Given the description of an element on the screen output the (x, y) to click on. 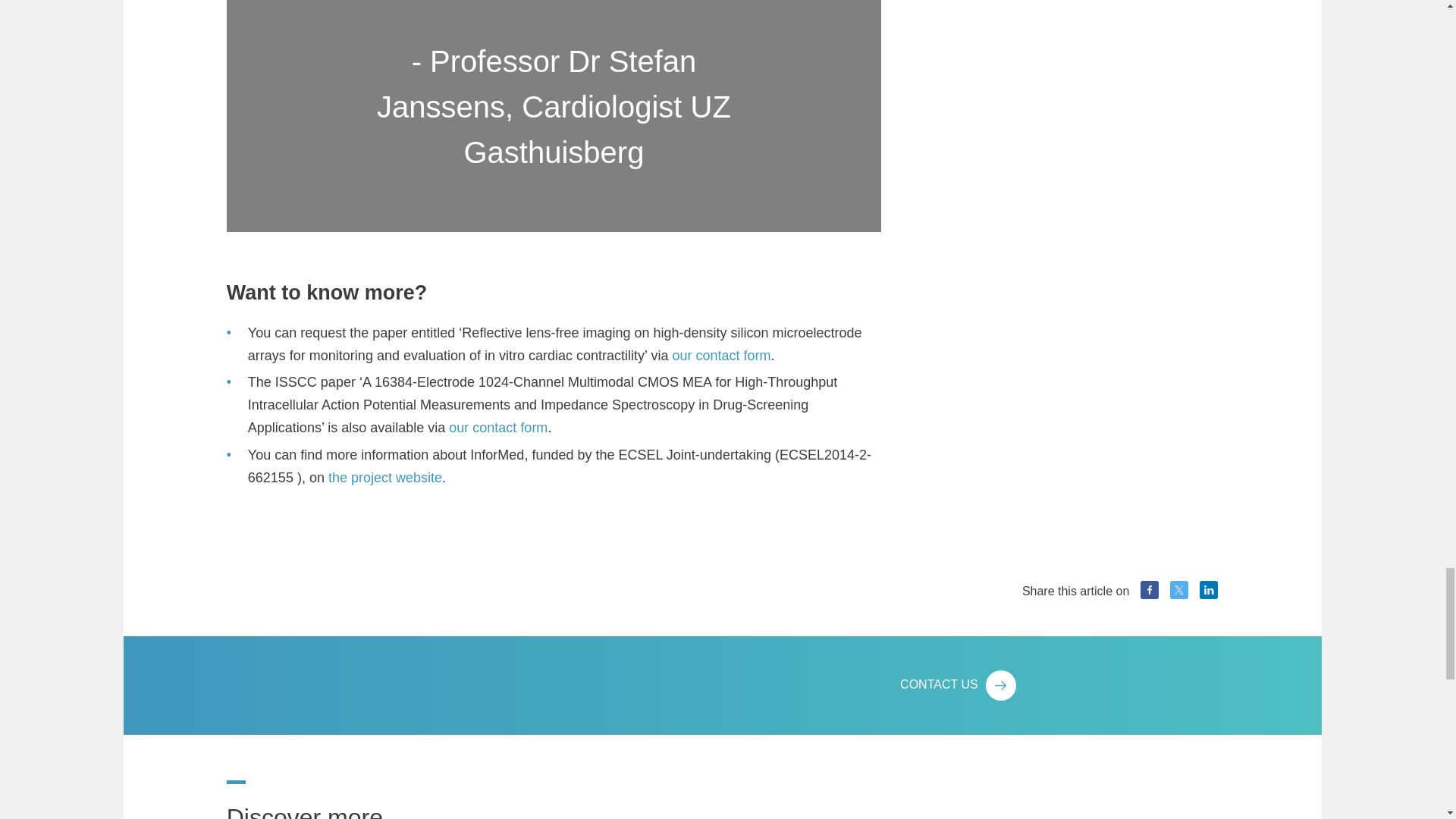
LinkedIn (1208, 589)
our contact form (720, 355)
X (1179, 589)
the project website (385, 478)
Discover more (310, 799)
CONTACT US (1058, 685)
our contact form (497, 427)
Facebook (1149, 589)
